Given the description of an element on the screen output the (x, y) to click on. 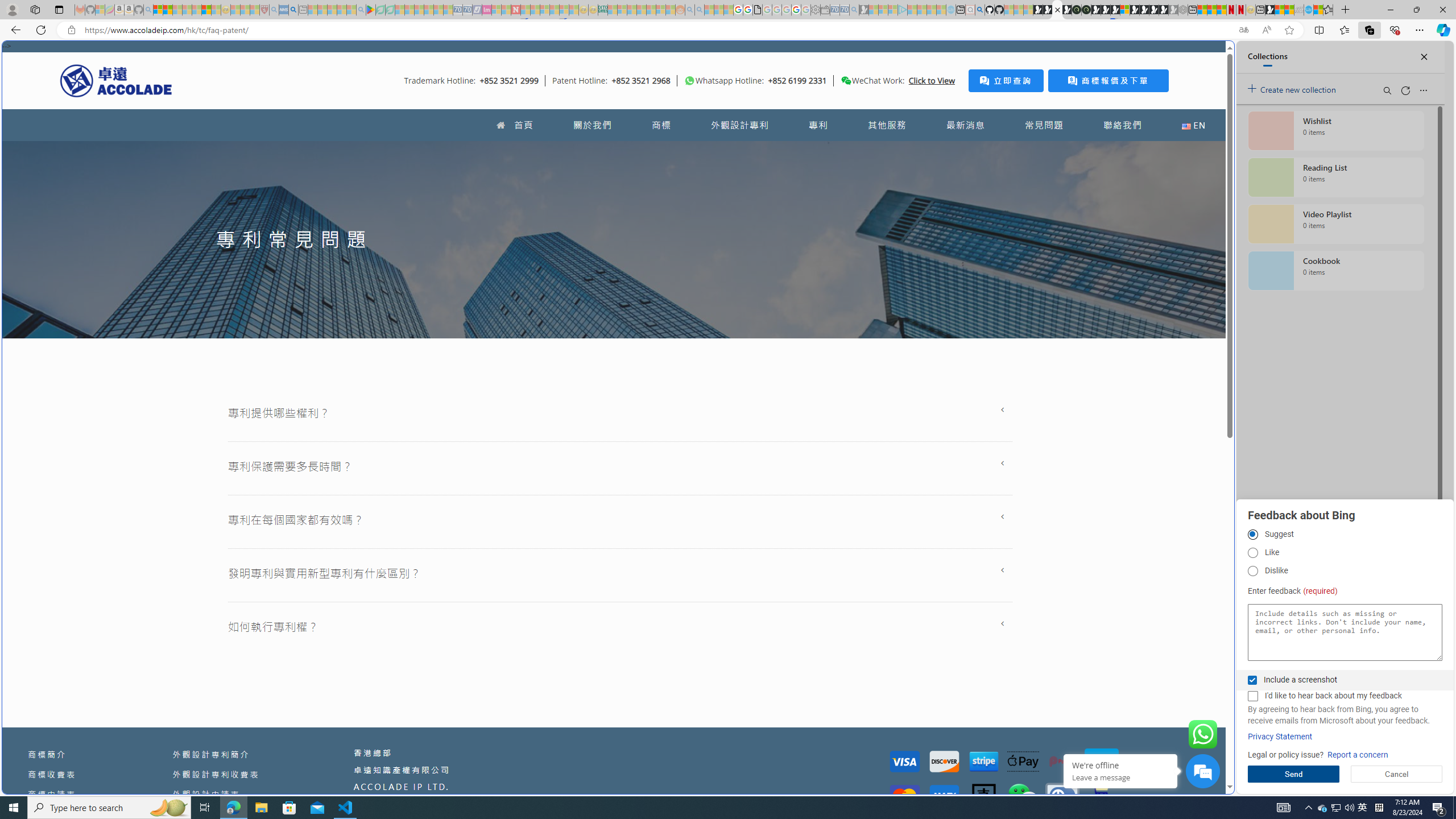
google - Search - Sleeping (360, 9)
I'd like to hear back about my feedback (1252, 696)
utah sues federal government - Search (922, 389)
Class: desktop (845, 80)
